Given the description of an element on the screen output the (x, y) to click on. 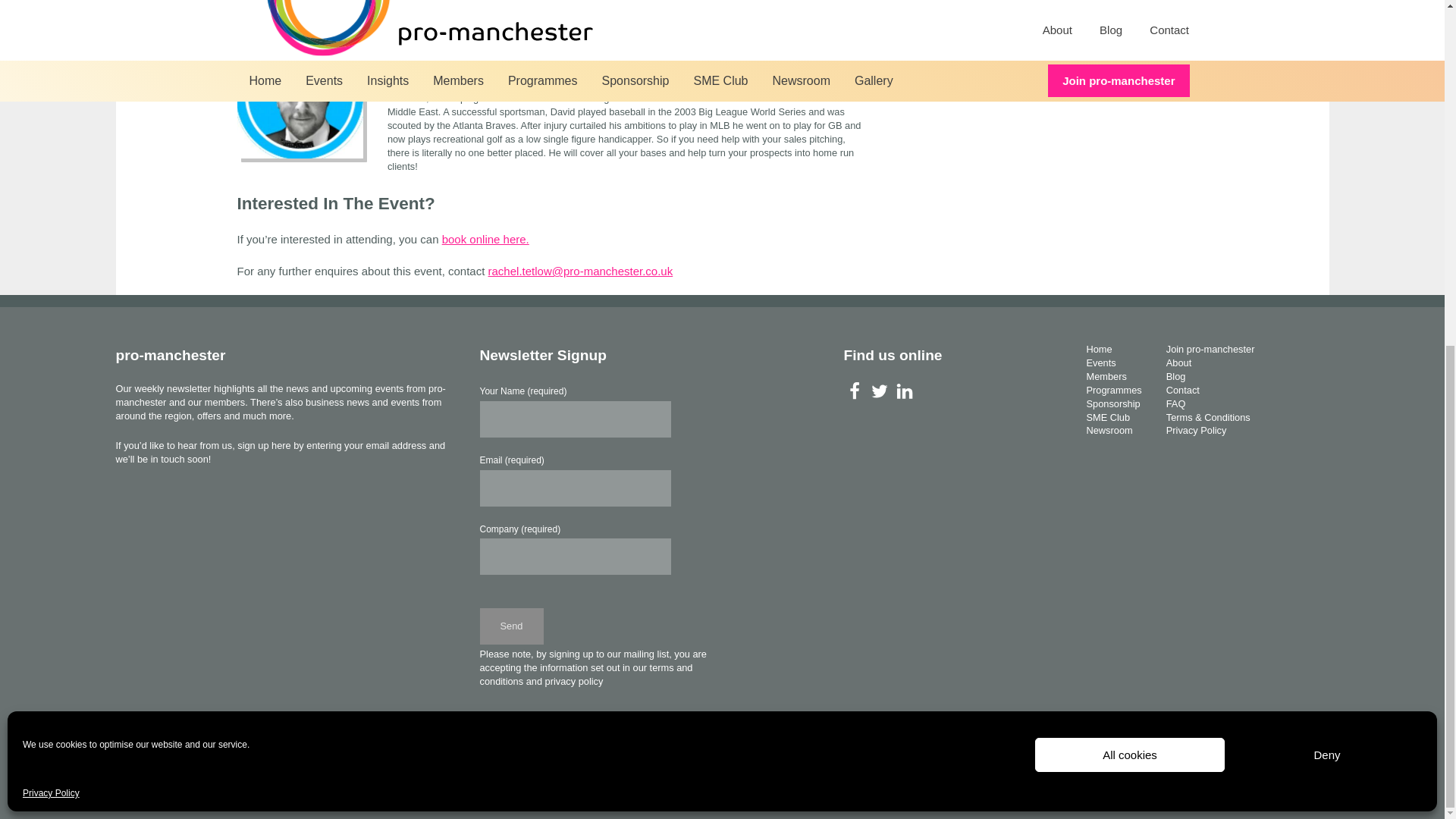
book online here. (485, 238)
Send (511, 626)
Send (511, 626)
terms and conditions (586, 674)
Privacy Policy (51, 199)
privacy policy (574, 681)
LinkedIn (904, 391)
All cookies (1129, 161)
Twitter (878, 391)
Deny (1326, 161)
Facebook (853, 391)
